Given the description of an element on the screen output the (x, y) to click on. 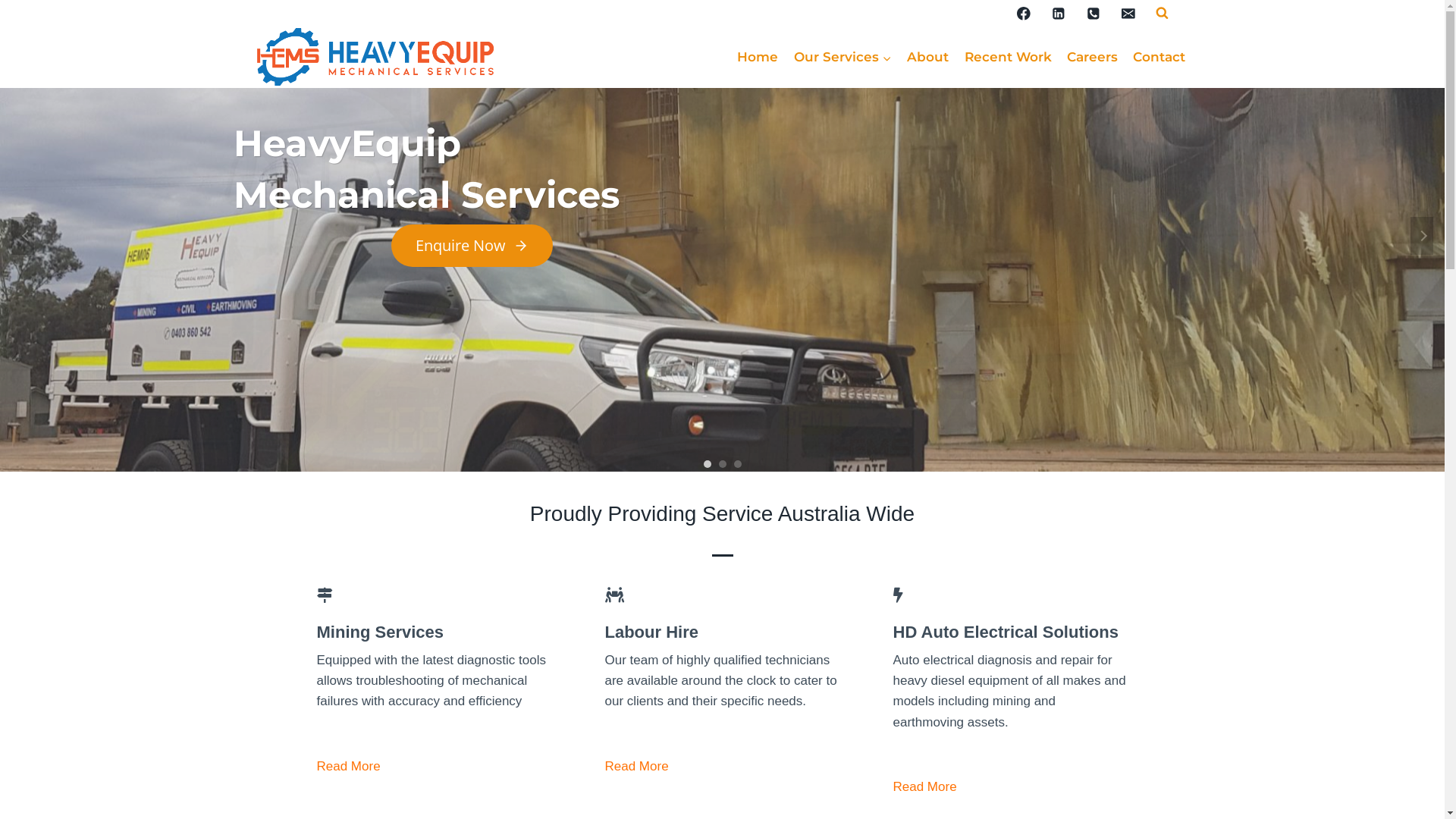
3 Element type: text (736, 463)
Contact Element type: text (1158, 57)
About Element type: text (927, 57)
Read More Element type: text (636, 766)
Home Element type: text (757, 57)
Read More Element type: text (925, 786)
Previous Element type: text (22, 235)
Next Element type: text (1421, 235)
Enquire Now Element type: text (471, 245)
Our Services Element type: text (842, 57)
Recent Work Element type: text (1007, 57)
Careers Element type: text (1092, 57)
Read More Element type: text (348, 766)
2 Element type: text (721, 463)
1 Element type: text (706, 463)
